Given the description of an element on the screen output the (x, y) to click on. 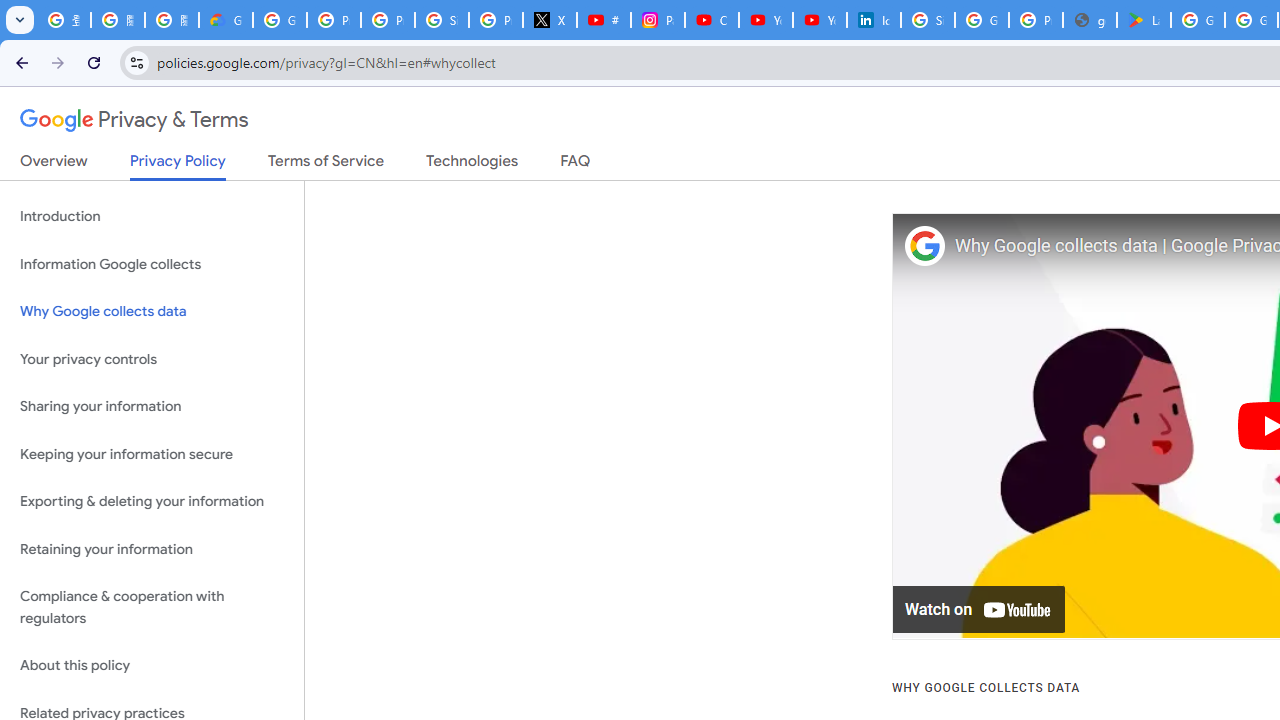
About this policy (152, 666)
